Given the description of an element on the screen output the (x, y) to click on. 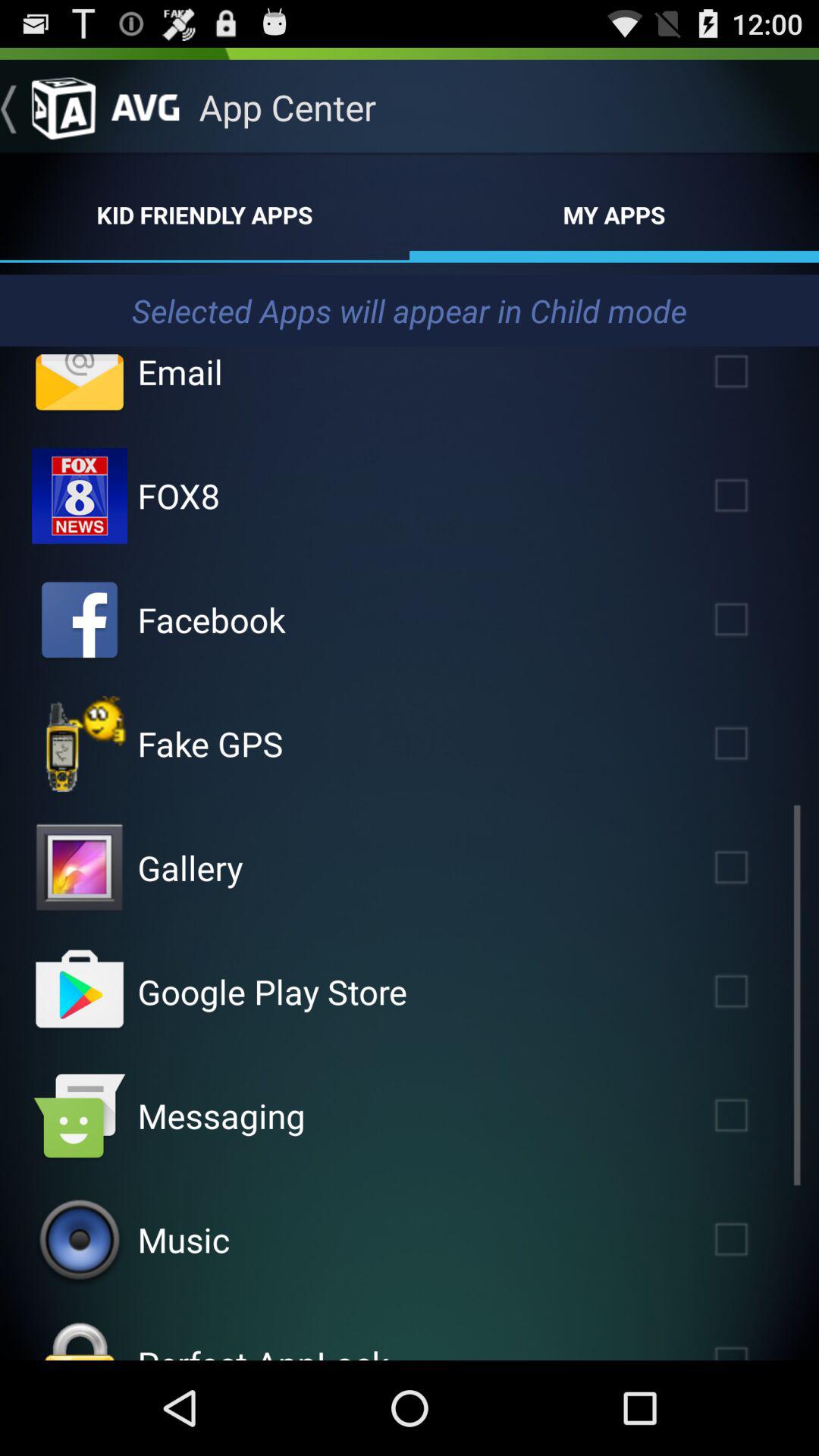
tap to launch app (79, 991)
